Given the description of an element on the screen output the (x, y) to click on. 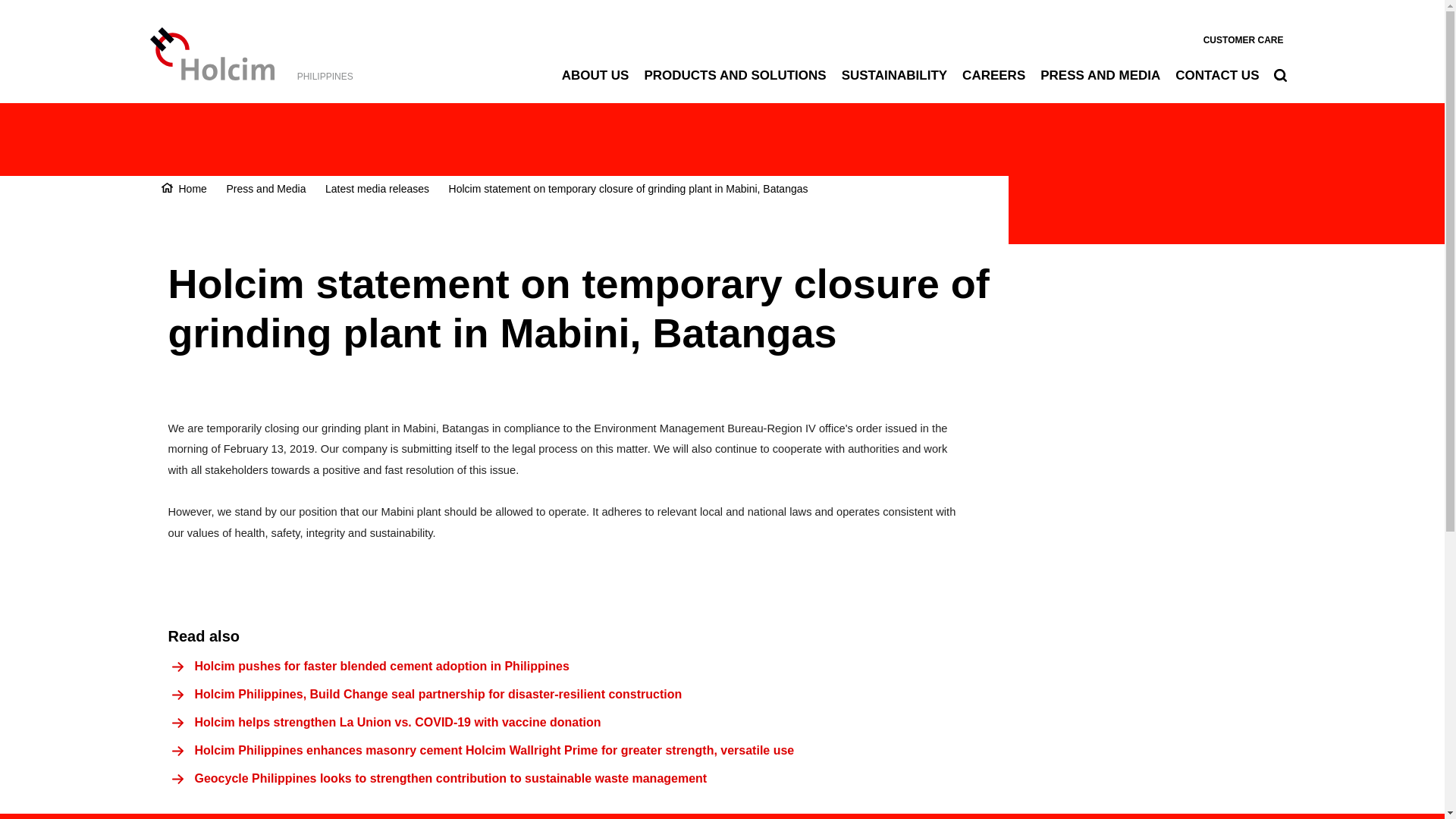
ABOUT US (595, 74)
PRODUCTS AND SOLUTIONS (734, 74)
CUSTOMER CARE (1243, 39)
